Given the description of an element on the screen output the (x, y) to click on. 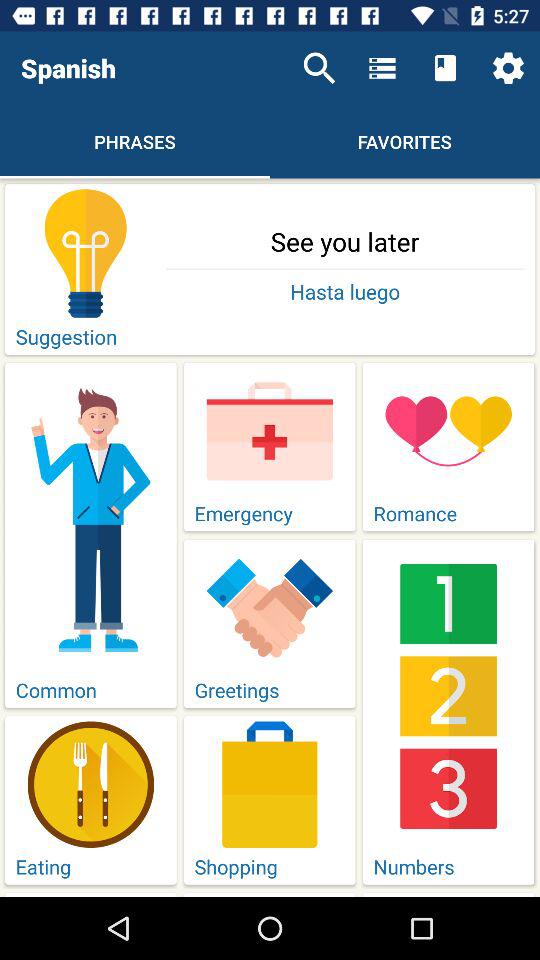
open icon next to the spanish (319, 67)
